Given the description of an element on the screen output the (x, y) to click on. 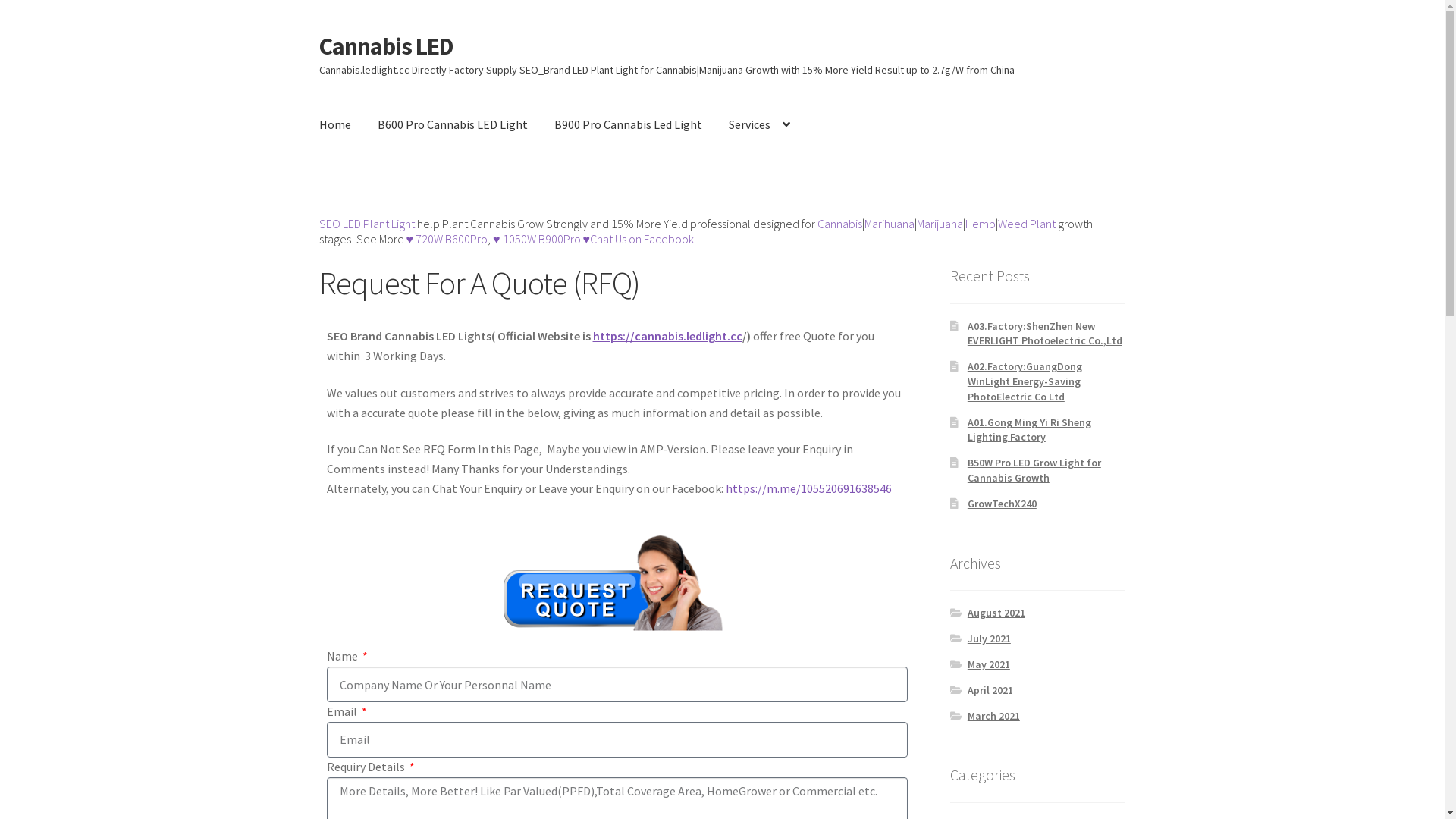
Marihuana Element type: text (889, 223)
Cannabis LED Element type: text (386, 46)
https://m.me/105520691638546 Element type: text (808, 487)
B600 Pro Cannabis LED Light Element type: text (452, 124)
B50W Pro LED Grow Light for Cannabis Growth Element type: text (1034, 469)
Weed Plant Element type: text (1026, 223)
https://cannabis.ledlight.cc Element type: text (667, 335)
Cannabis Element type: text (839, 223)
Home Element type: text (335, 124)
Services Element type: text (759, 124)
Hemp Element type: text (980, 223)
Marijuana Element type: text (939, 223)
August 2021 Element type: text (996, 612)
March 2021 Element type: text (993, 715)
B900 Pro Cannabis Led Light Element type: text (628, 124)
SEO LED Plant Light Element type: text (368, 223)
May 2021 Element type: text (988, 664)
April 2021 Element type: text (990, 689)
GrowTechX240 Element type: text (1001, 503)
A01.Gong Ming Yi Ri Sheng Lighting Factory Element type: text (1029, 429)
A03.Factory:ShenZhen New EVERLIGHT Photoelectric Co.,Ltd Element type: text (1044, 333)
July 2021 Element type: text (988, 638)
